Given the description of an element on the screen output the (x, y) to click on. 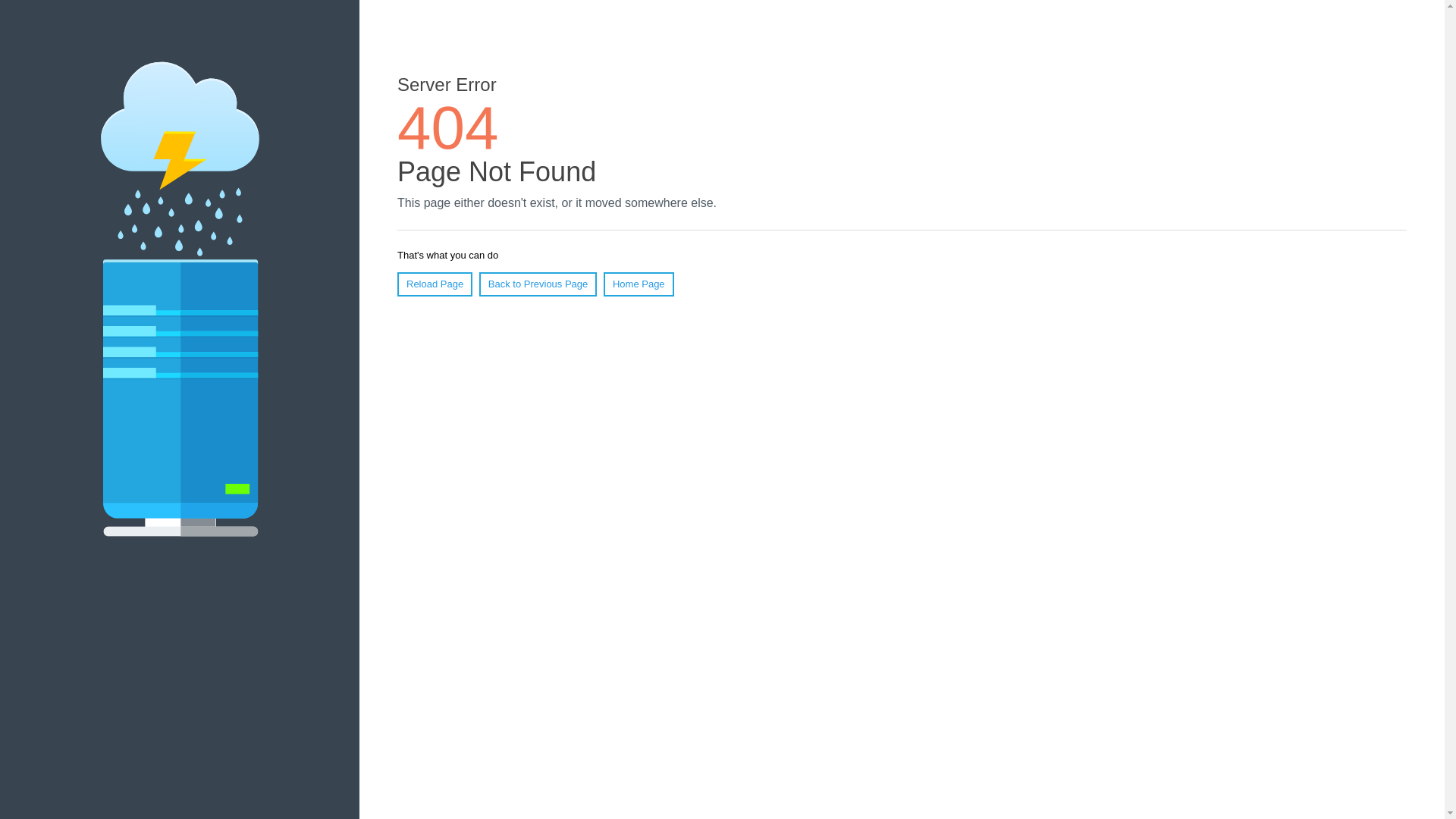
Home Page Element type: text (638, 284)
Back to Previous Page Element type: text (538, 284)
Reload Page Element type: text (434, 284)
